Given the description of an element on the screen output the (x, y) to click on. 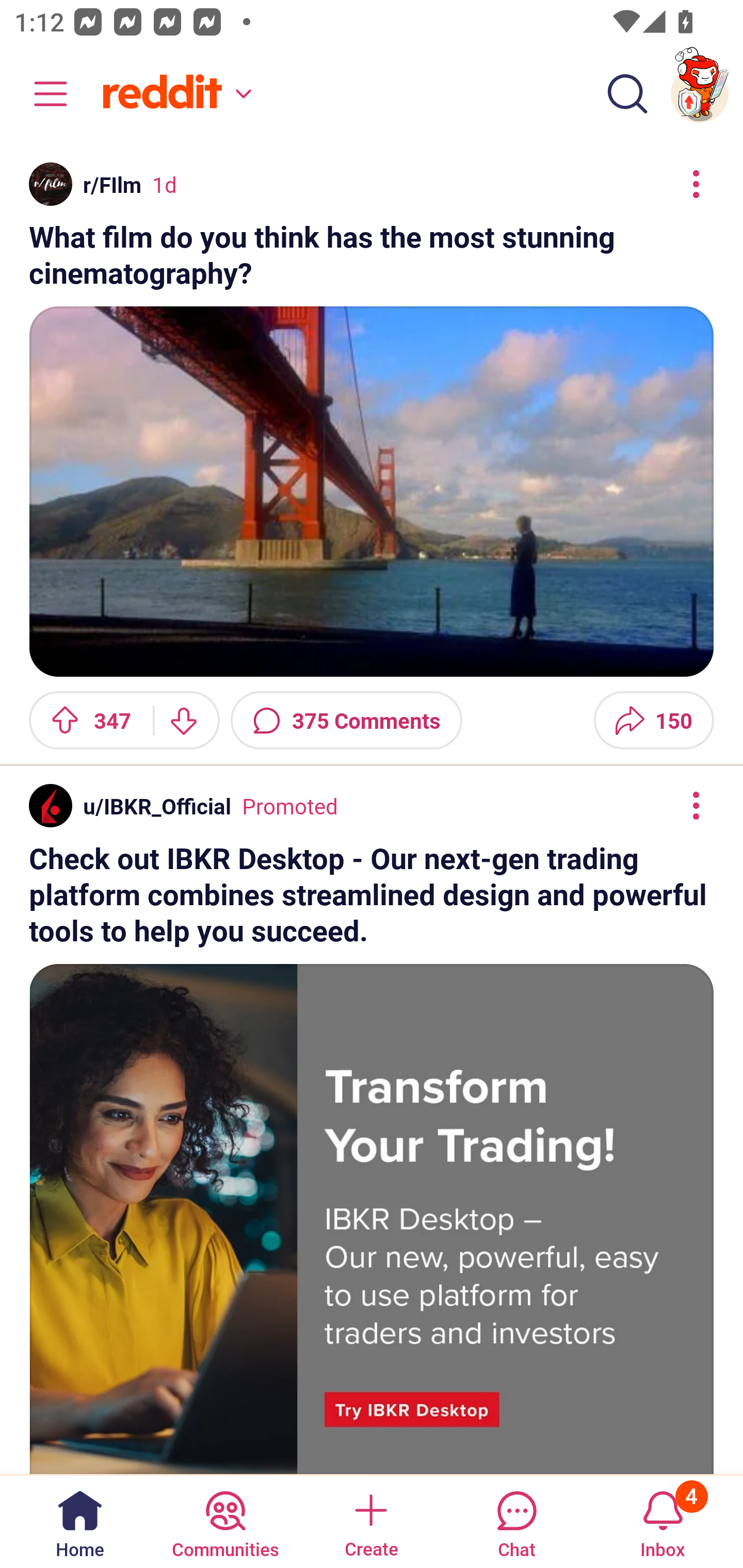
Search (626, 93)
TestAppium002 account (699, 93)
Community menu (41, 94)
Home feed (173, 94)
Home (80, 1520)
Communities (225, 1520)
Create a post Create (370, 1520)
Chat (516, 1520)
Inbox, has 4 notifications 4 Inbox (662, 1520)
